Given the description of an element on the screen output the (x, y) to click on. 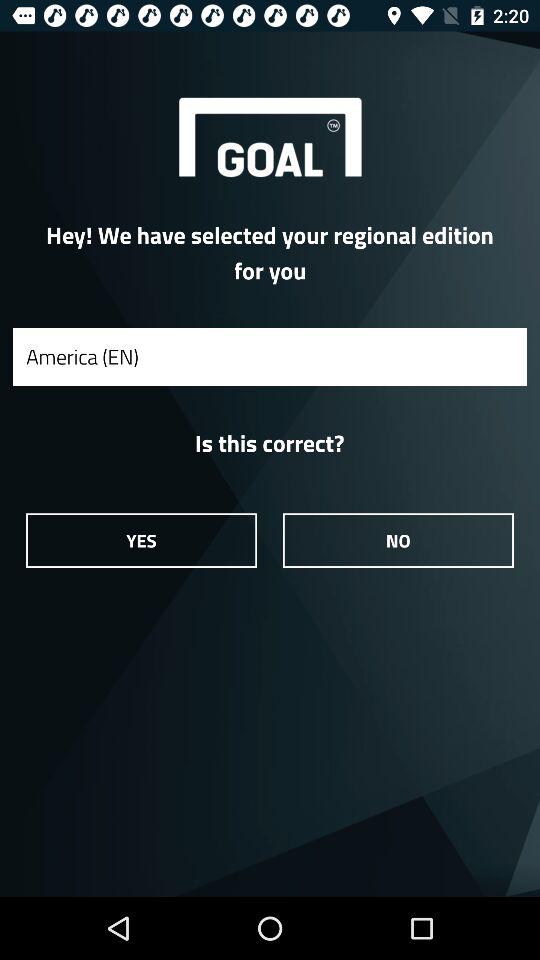
launch item below hey we have icon (269, 356)
